Given the description of an element on the screen output the (x, y) to click on. 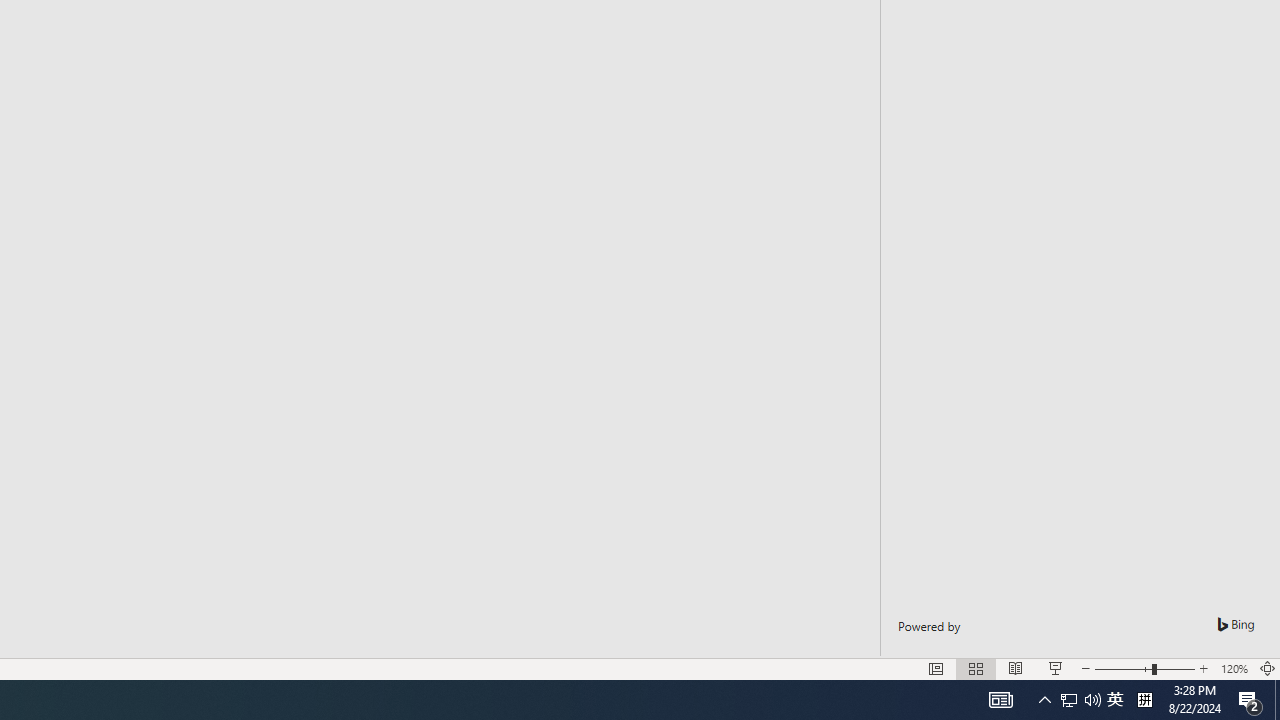
Zoom 120% (1234, 668)
